Given the description of an element on the screen output the (x, y) to click on. 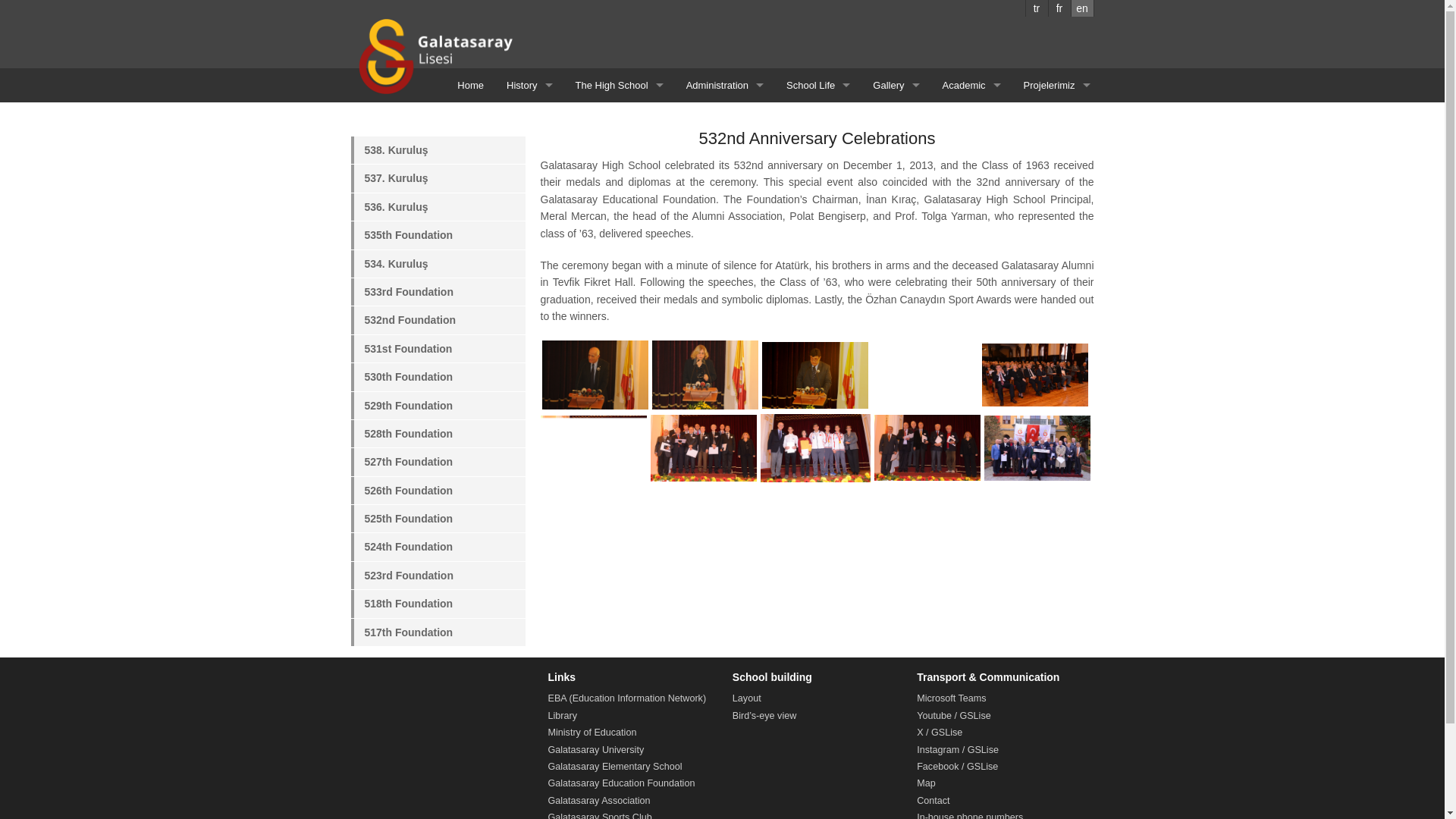
The Logo of Galatasaray (529, 168)
Principals (529, 141)
Units (619, 194)
fr (1059, 8)
Regulation (619, 141)
Law (619, 115)
History (529, 84)
Pilaf of Galatasaray (529, 221)
The High School (619, 84)
The Book of Honor (529, 194)
